Given the description of an element on the screen output the (x, y) to click on. 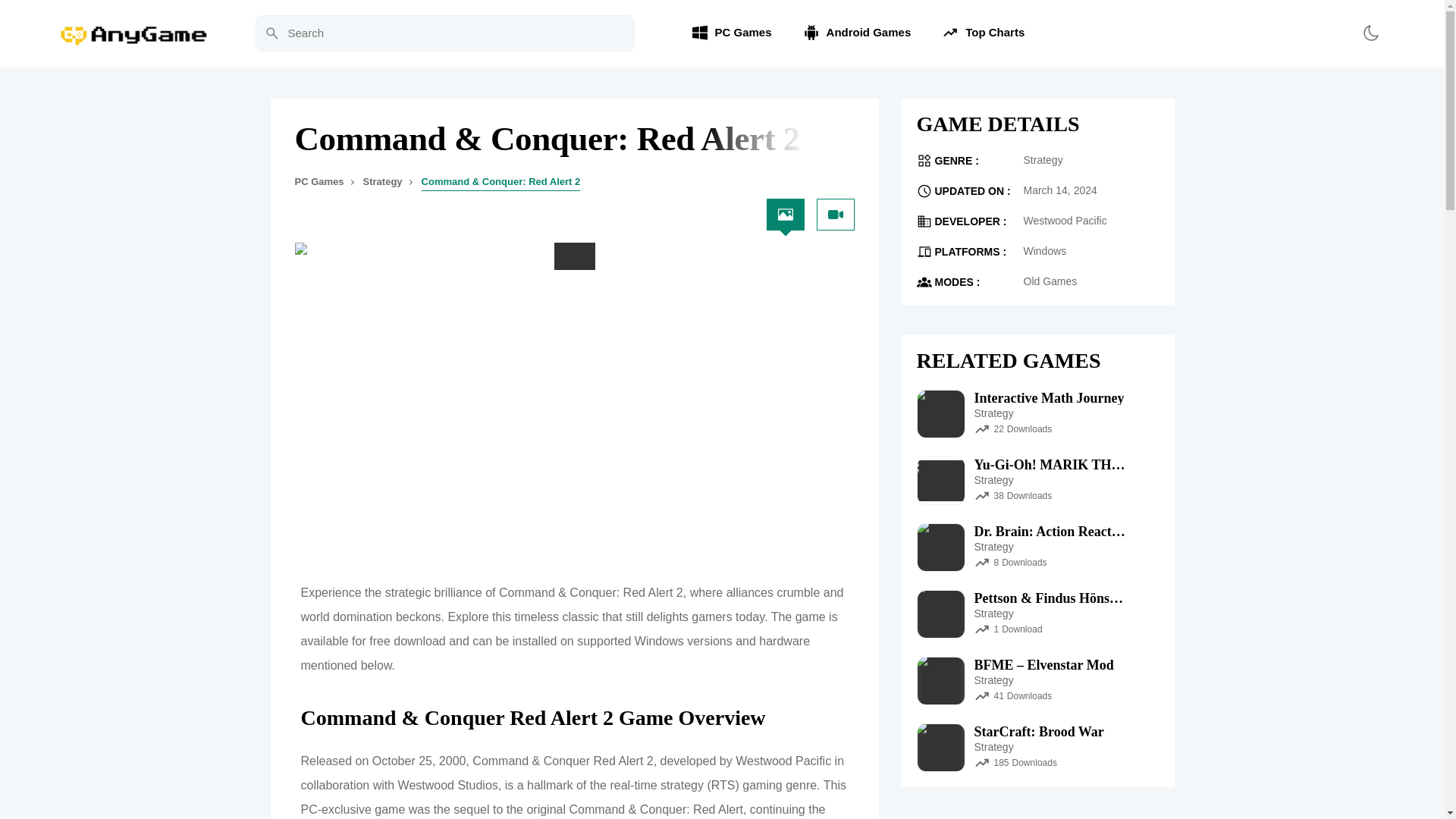
Yu-Gi-Oh! MARIK THE DARKNESS (1049, 464)
Strategy (1042, 160)
Top Charts (983, 33)
StarCraft: Brood War (1038, 731)
Android Games (857, 33)
PC Games (318, 181)
Strategy (382, 181)
Change site theme (1370, 33)
PC Games (731, 33)
Old Games (1050, 281)
Interactive Math Journey (1049, 397)
Dr. Brain: Action Reaction (1049, 531)
